Given the description of an element on the screen output the (x, y) to click on. 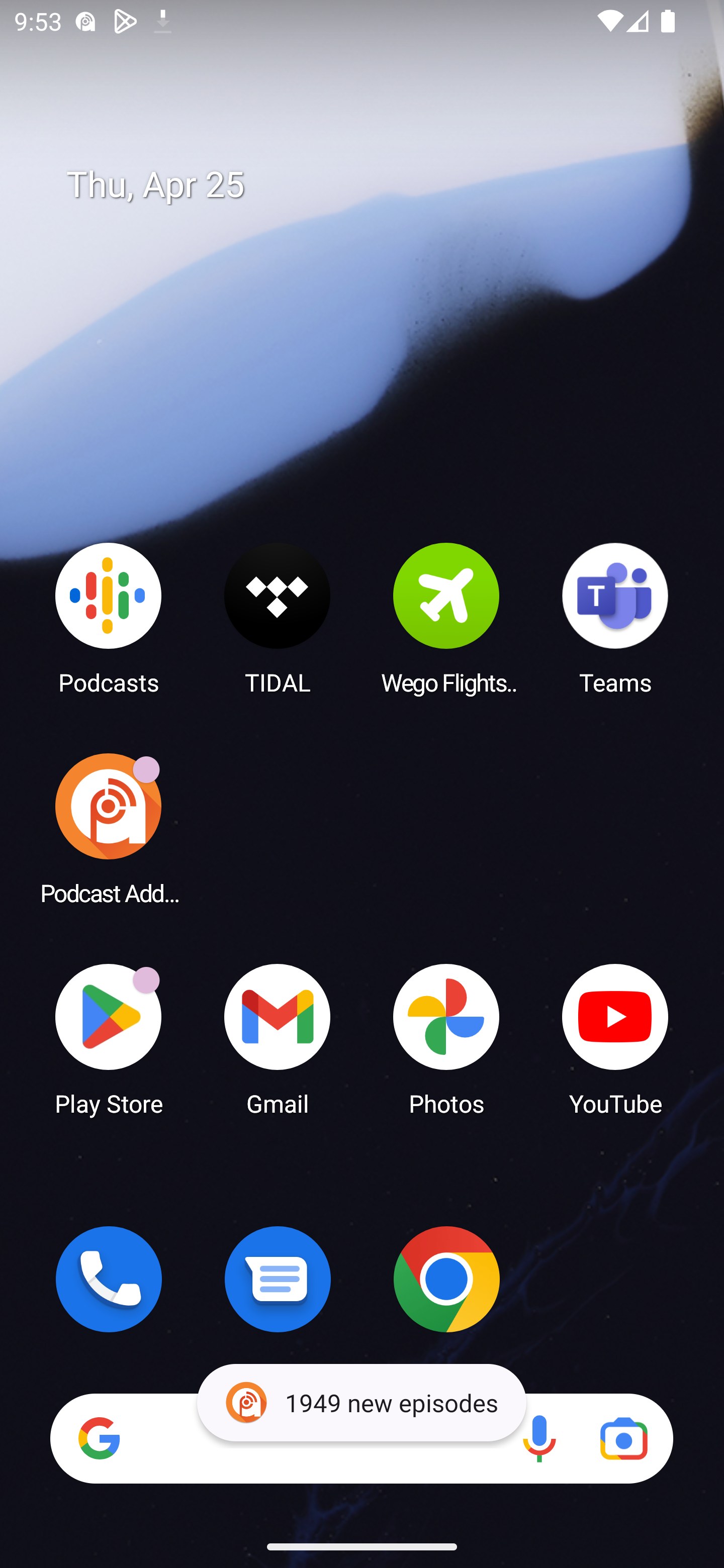
Thu, Apr 25 (375, 184)
Podcasts (108, 617)
TIDAL (277, 617)
Wego Flights & Hotels (445, 617)
Teams (615, 617)
Play Store Play Store has 1 notification (108, 1038)
Gmail (277, 1038)
Photos (445, 1038)
YouTube (615, 1038)
Phone (108, 1279)
Messages (277, 1279)
Chrome (446, 1279)
Search Voice search Google Lens (361, 1438)
Voice search (539, 1438)
Google Lens (623, 1438)
